Given the description of an element on the screen output the (x, y) to click on. 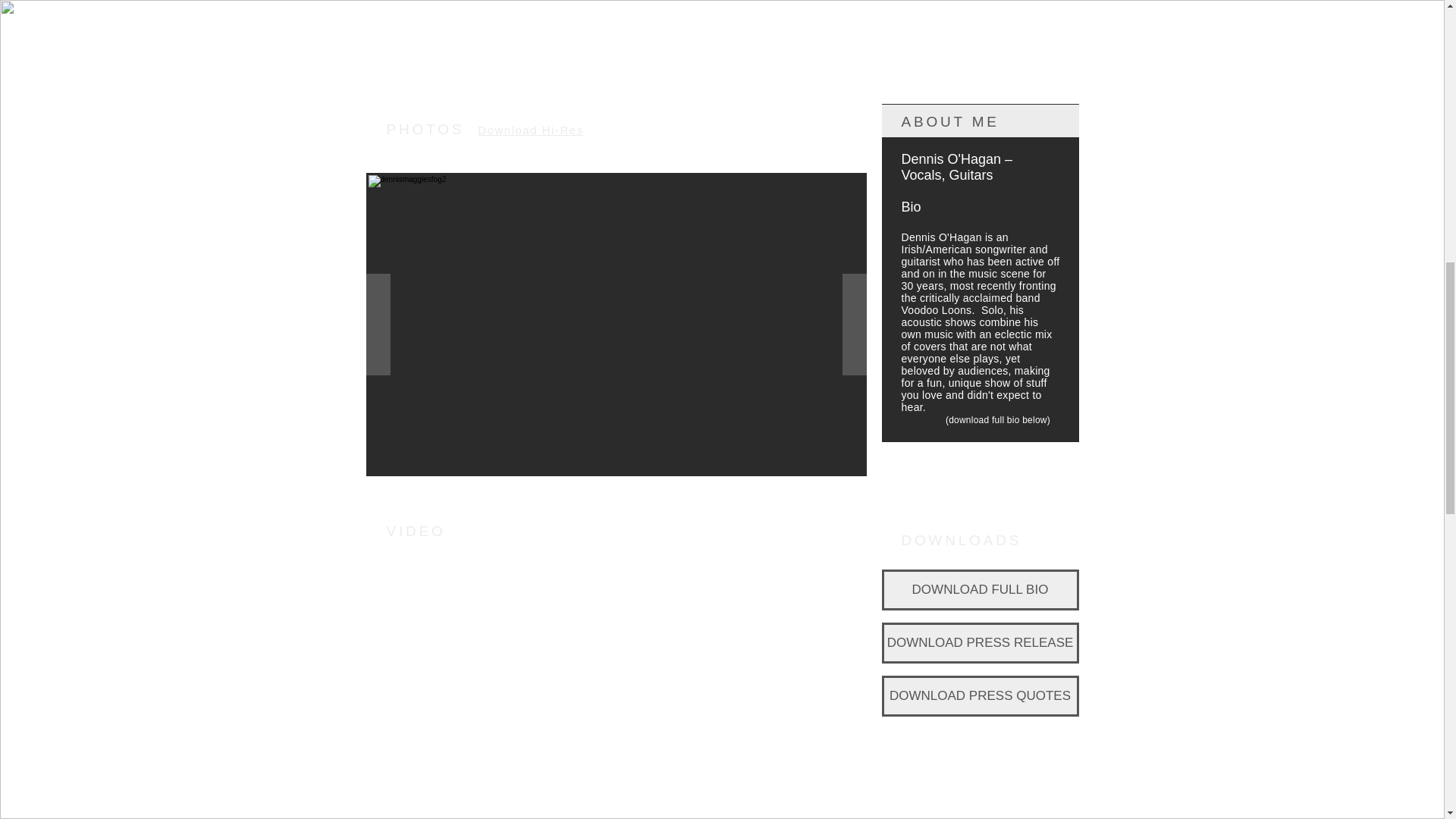
DOWNLOAD PRESS QUOTES (979, 695)
External YouTube (615, 689)
DOWNLOAD FULL BIO (979, 589)
DOWNLOAD PRESS RELEASE (979, 642)
Download Hi-Res (530, 129)
